Given the description of an element on the screen output the (x, y) to click on. 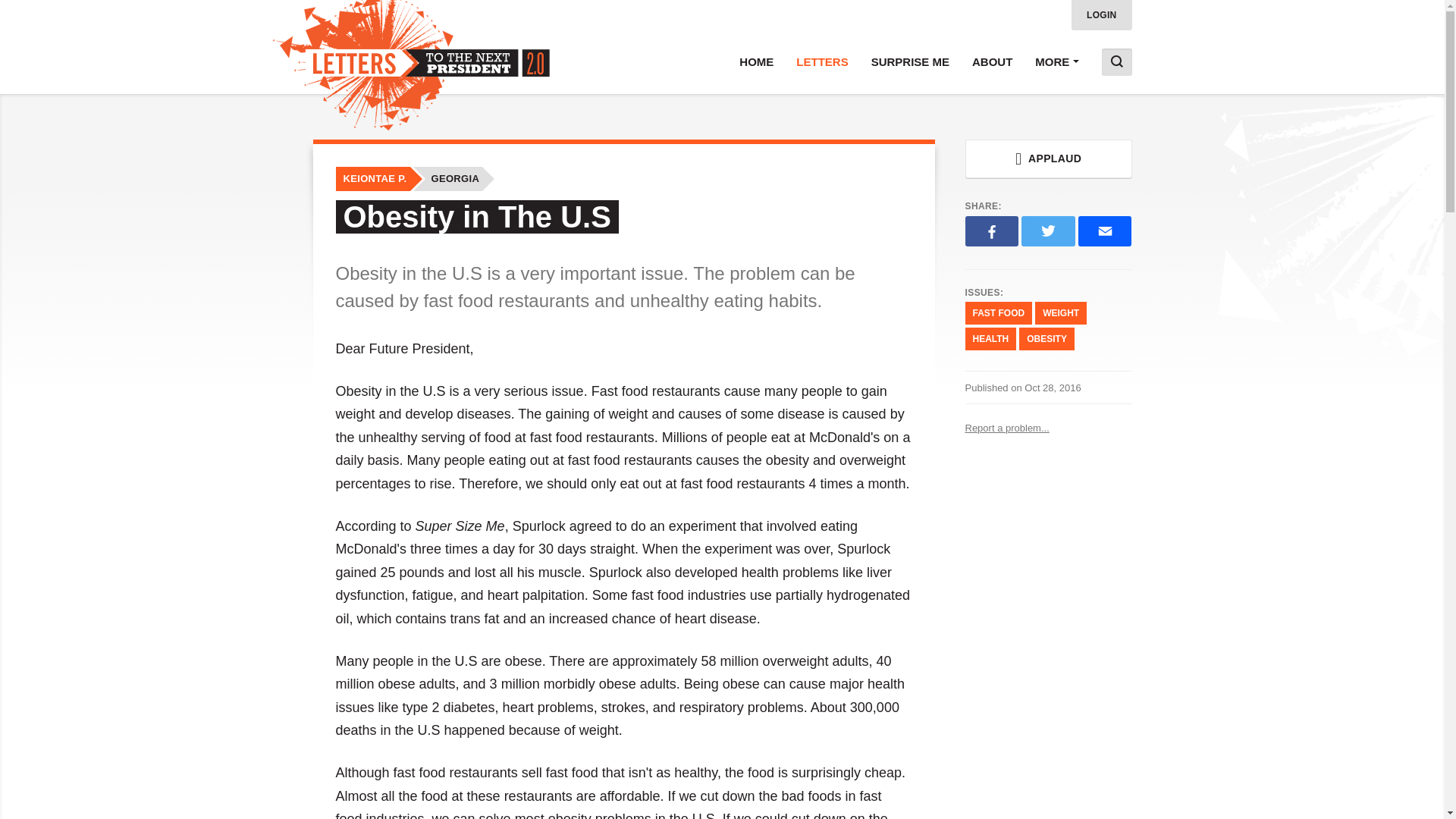
OBESITY (1046, 338)
Report a problem... (1047, 428)
LOGIN (1101, 15)
HOME (756, 62)
HEALTH (989, 338)
SURPRISE ME (910, 62)
FAST FOOD (997, 313)
LETTERS (821, 62)
ABOUT (991, 62)
WEIGHT (1060, 313)
